Given the description of an element on the screen output the (x, y) to click on. 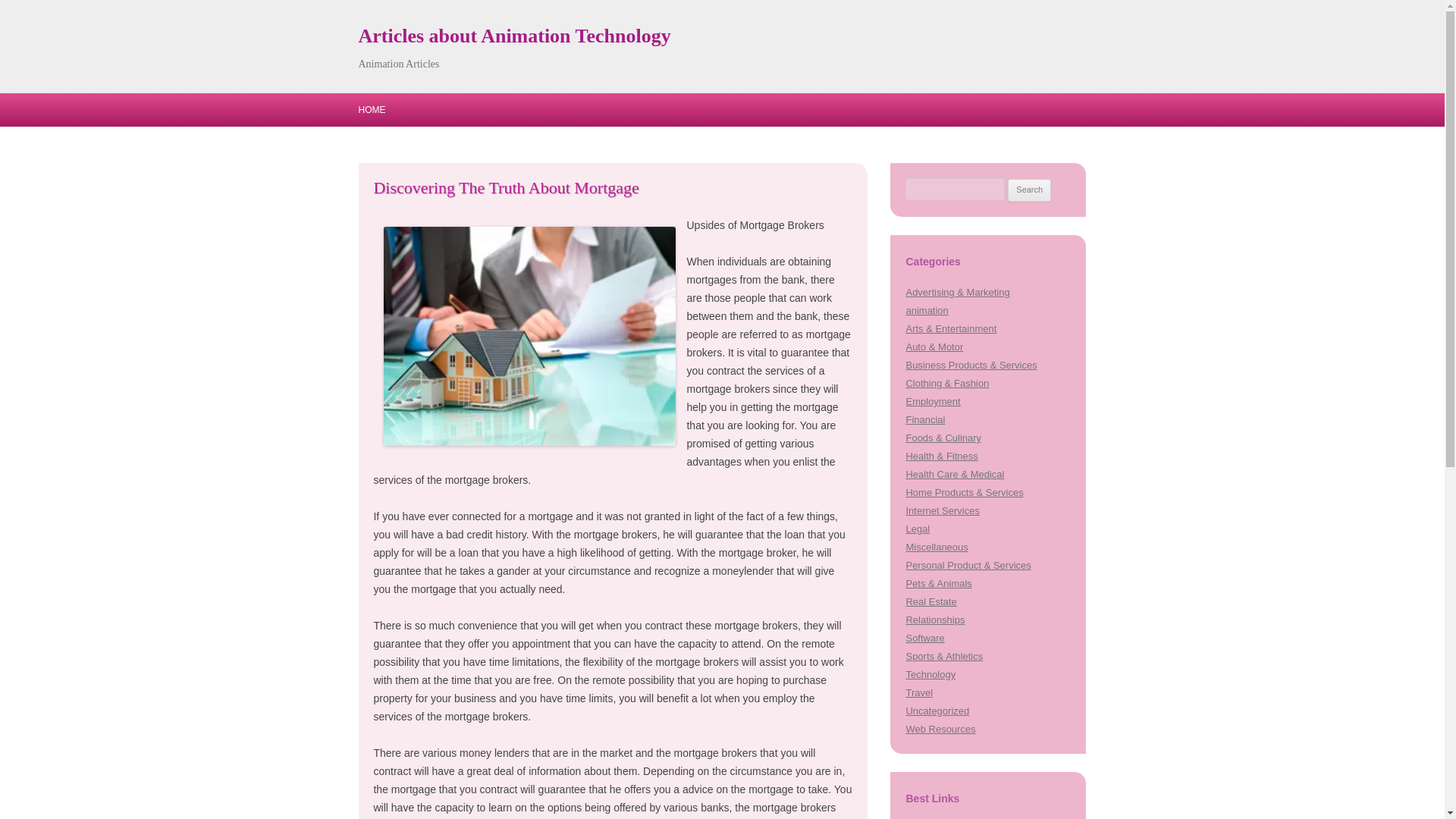
Miscellaneous (936, 546)
Articles about Animation Technology (513, 36)
Articles about Animation Technology (513, 36)
Real Estate (930, 601)
Internet Services (941, 510)
Financial (924, 419)
Technology (930, 674)
Search (1029, 190)
animation (926, 310)
Employment (932, 401)
Travel (919, 692)
Web Resources (940, 728)
Search (1029, 190)
Uncategorized (937, 710)
